Given the description of an element on the screen output the (x, y) to click on. 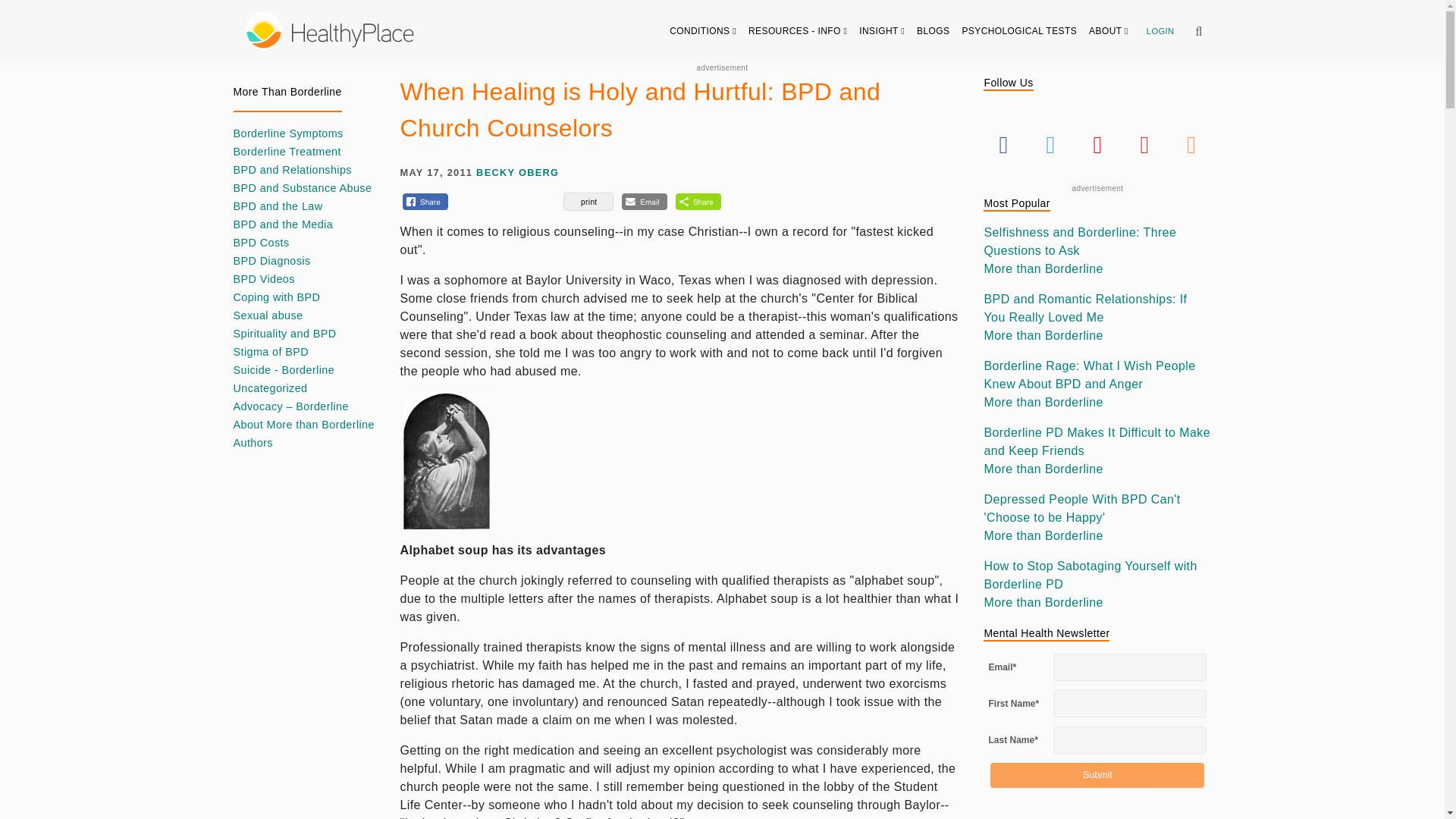
INSIGHT (882, 31)
RESOURCES - INFO (797, 31)
CONDITIONS (702, 31)
Submit (1097, 774)
